Given the description of an element on the screen output the (x, y) to click on. 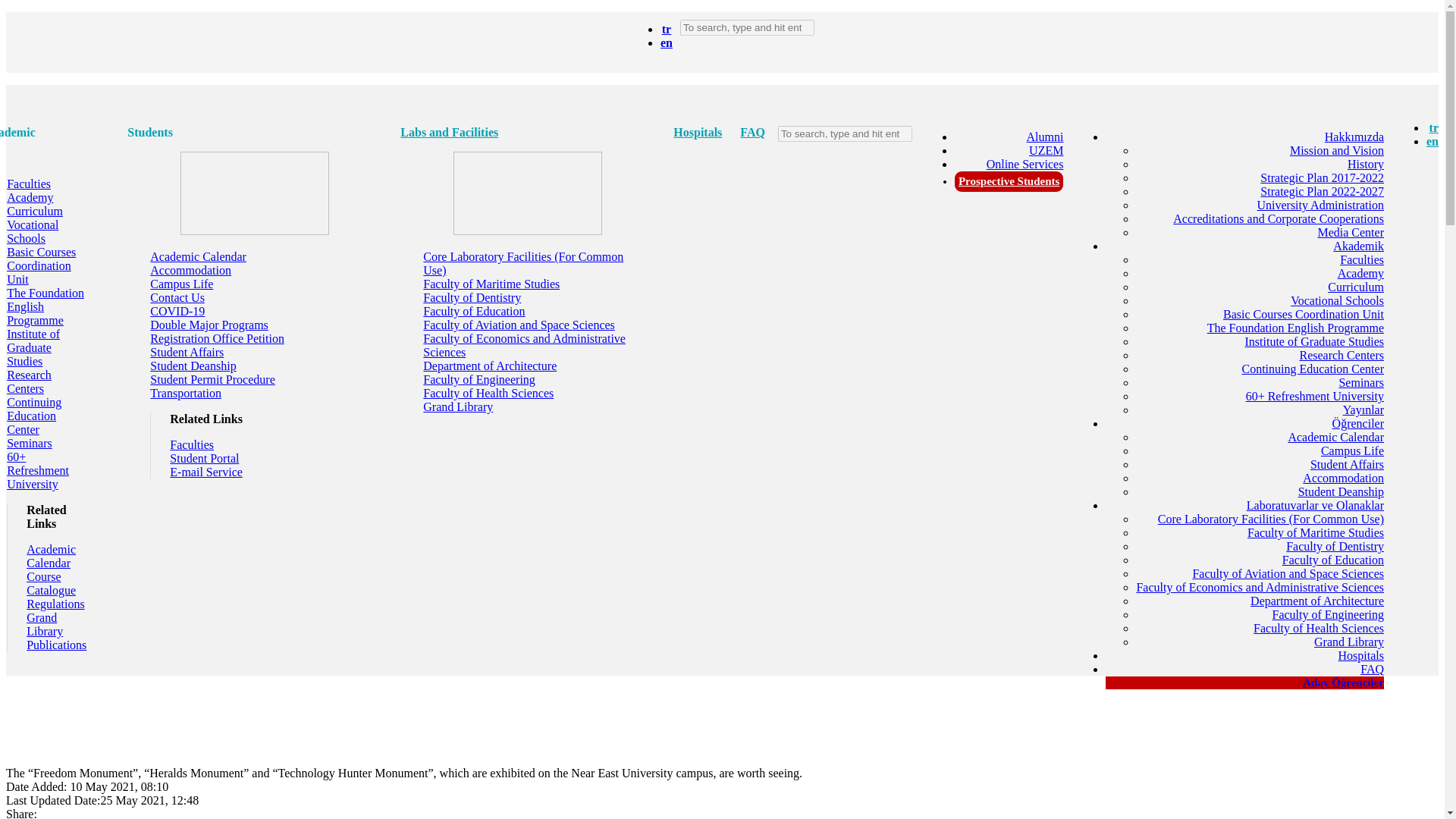
Institute of Graduate Studies (1314, 341)
Faculty of Dentistry (1334, 545)
Faculty of Education (1333, 559)
Strategic Plan 2022-2027 (1322, 191)
Basic Courses Coordination Unit (1303, 314)
Academy (1361, 273)
Continuing Education Center (1312, 368)
Mission and Vision (1337, 150)
Student Deanship (1341, 491)
Academic Calendar (1335, 436)
